Given the description of an element on the screen output the (x, y) to click on. 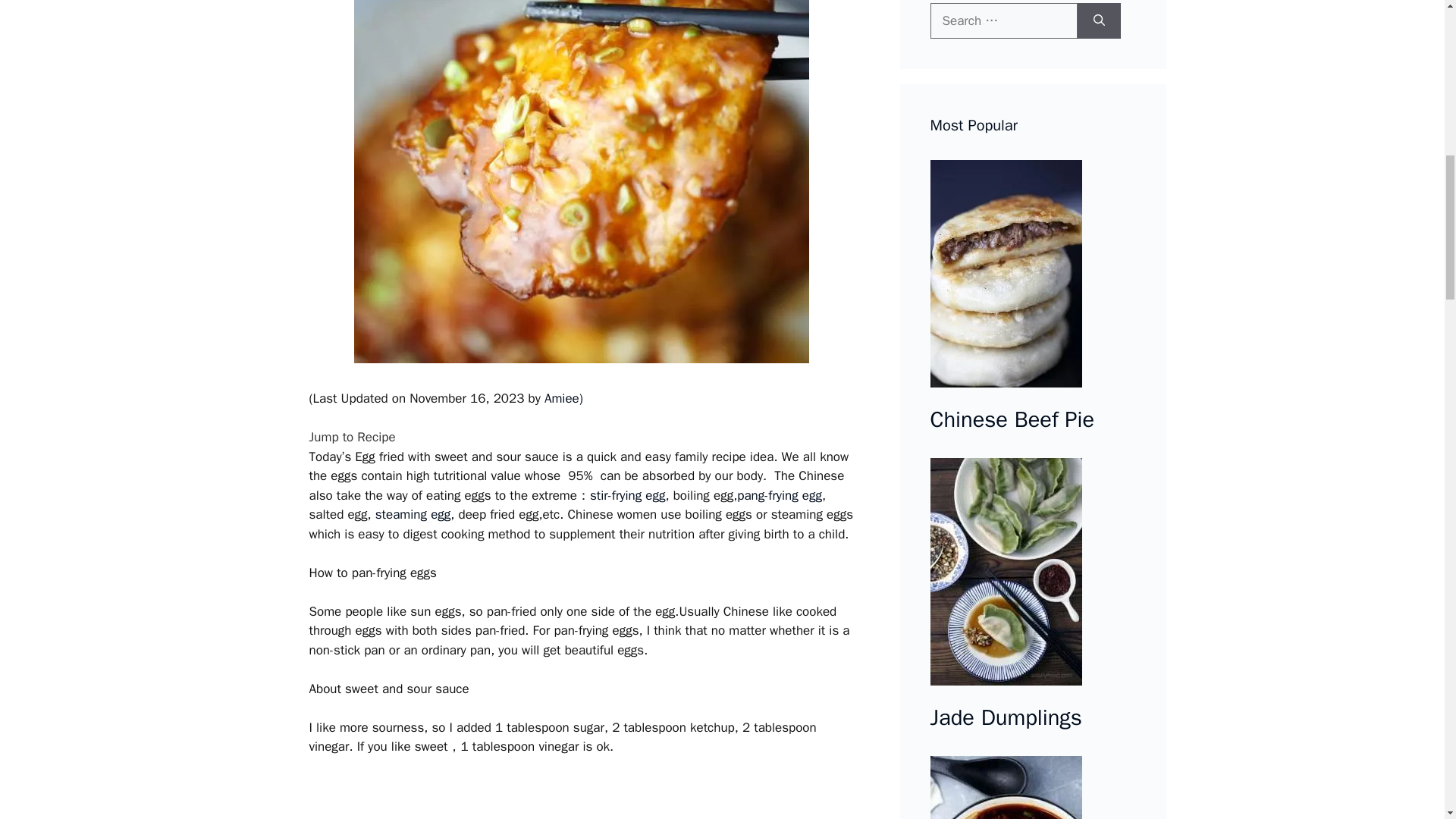
Wontons in Chili Oil (1032, 787)
Jade Dumplings (1032, 574)
Search for: (1003, 21)
Jade Dumplings (1005, 718)
Chinese Beef Pie (1032, 276)
Chinese Beef Pie (1012, 420)
